Given the description of an element on the screen output the (x, y) to click on. 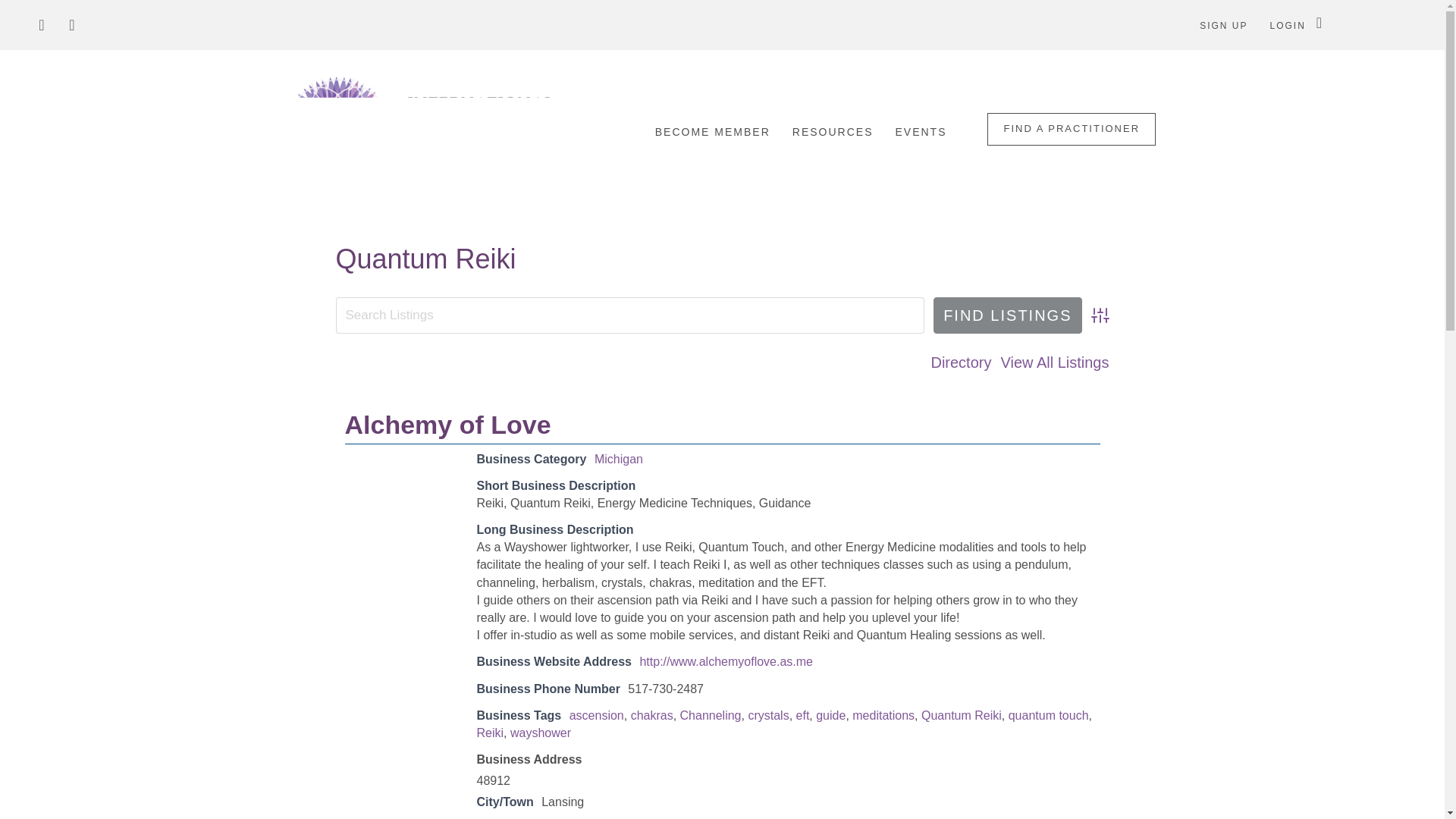
Michigan (618, 458)
Quick search keywords (629, 315)
ascension (596, 715)
quantum touch (1049, 715)
Alchemy of Love (446, 424)
Quantum Reiki (961, 715)
Channeling (710, 715)
chakras (651, 715)
meditations (882, 715)
Find Listings (1007, 315)
YouTube (71, 24)
Reiki (489, 732)
EVENTS (919, 132)
Find Listings (1007, 315)
SIGN UP (1223, 25)
